Given the description of an element on the screen output the (x, y) to click on. 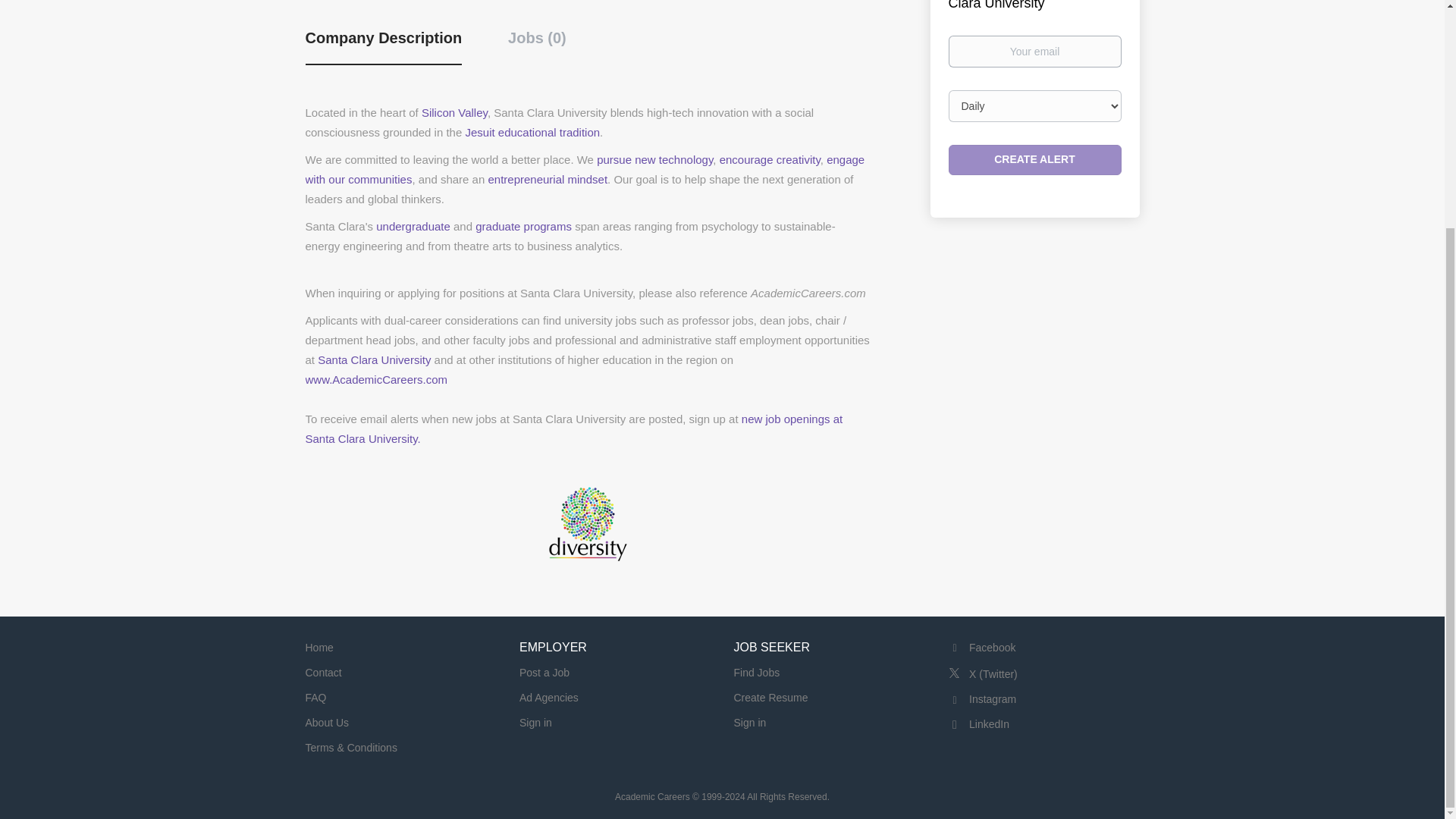
Contact (322, 672)
graduate programs (524, 226)
Create alert (1034, 159)
Company Description (382, 46)
Jesuit educational tradition (531, 132)
pursue new technology (654, 159)
new job openings at Santa Clara University. (573, 428)
encourage creativity (770, 159)
Santa Clara University (373, 359)
Create alert (1034, 159)
